Given the description of an element on the screen output the (x, y) to click on. 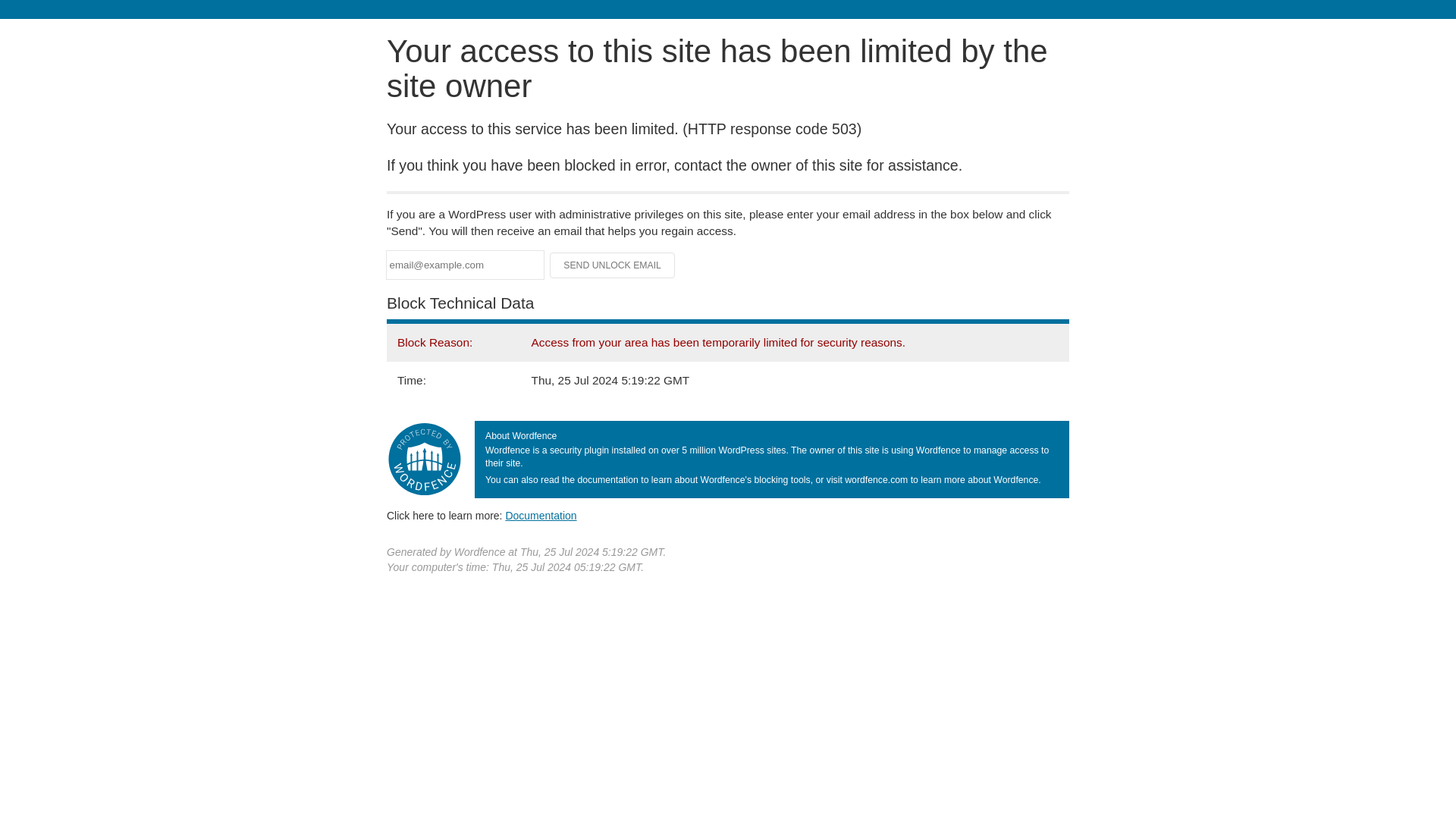
Send Unlock Email (612, 265)
Send Unlock Email (612, 265)
Documentation (540, 515)
